Given the description of an element on the screen output the (x, y) to click on. 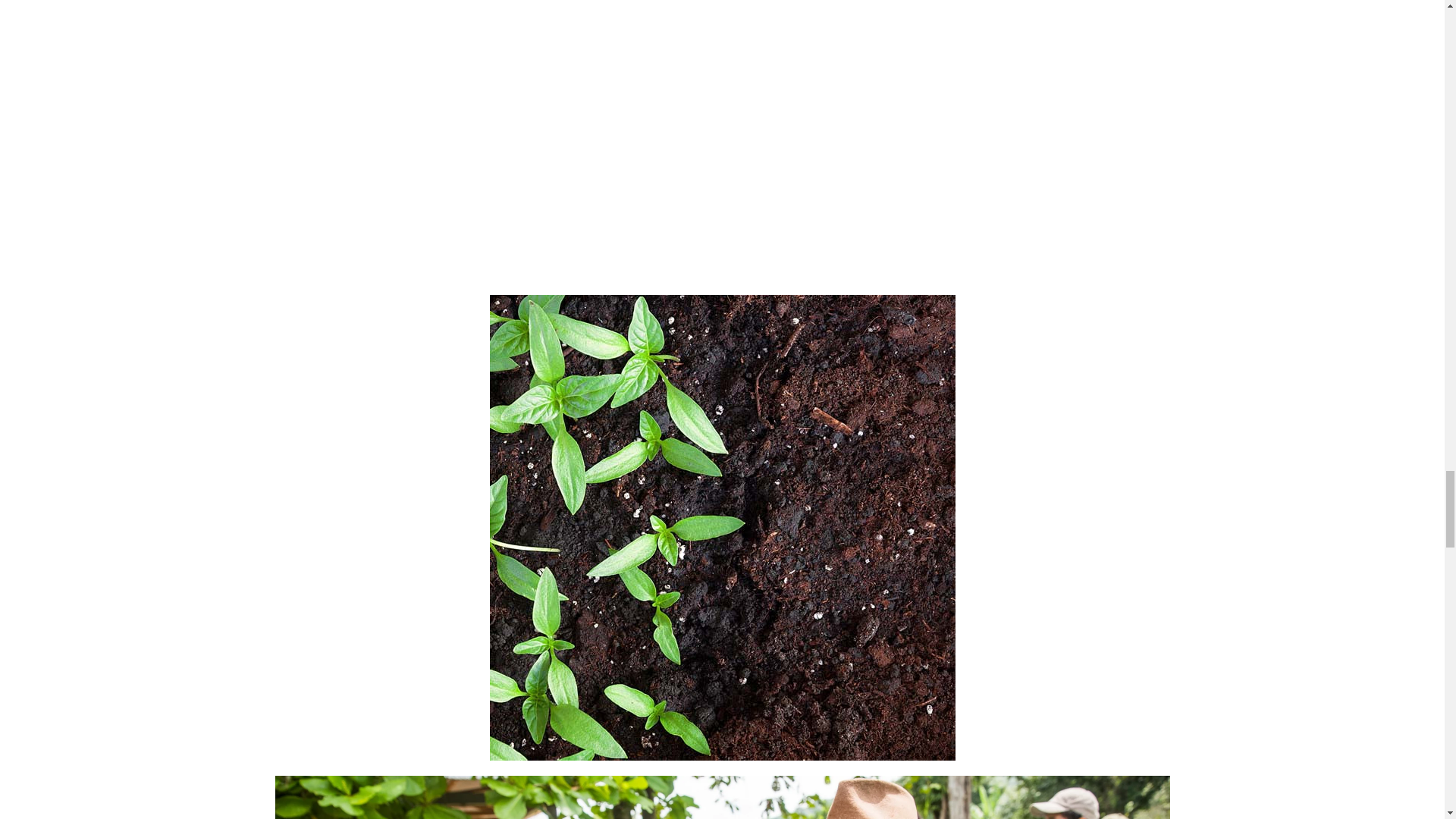
AFN (722, 550)
ALL (722, 577)
AWG (722, 687)
AUD (722, 659)
AMD (722, 605)
ANG (722, 632)
AED (722, 523)
